Given the description of an element on the screen output the (x, y) to click on. 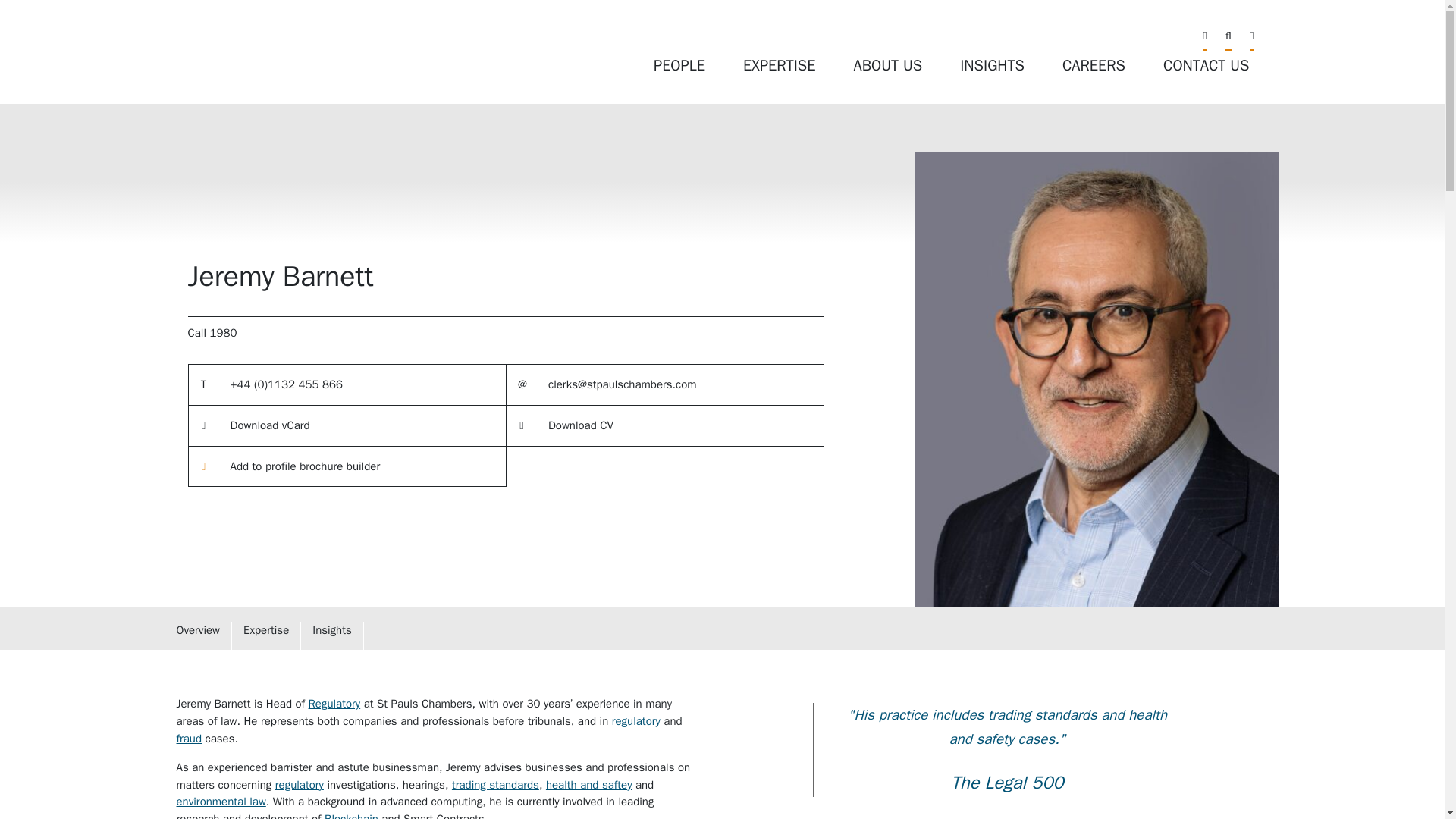
CONTACT US (1206, 65)
CAREERS (1093, 65)
ABOUT US (887, 65)
Portfolio (305, 466)
EXPERTISE (778, 65)
INSIGHTS (991, 65)
PEOPLE (678, 65)
